Given the description of an element on the screen output the (x, y) to click on. 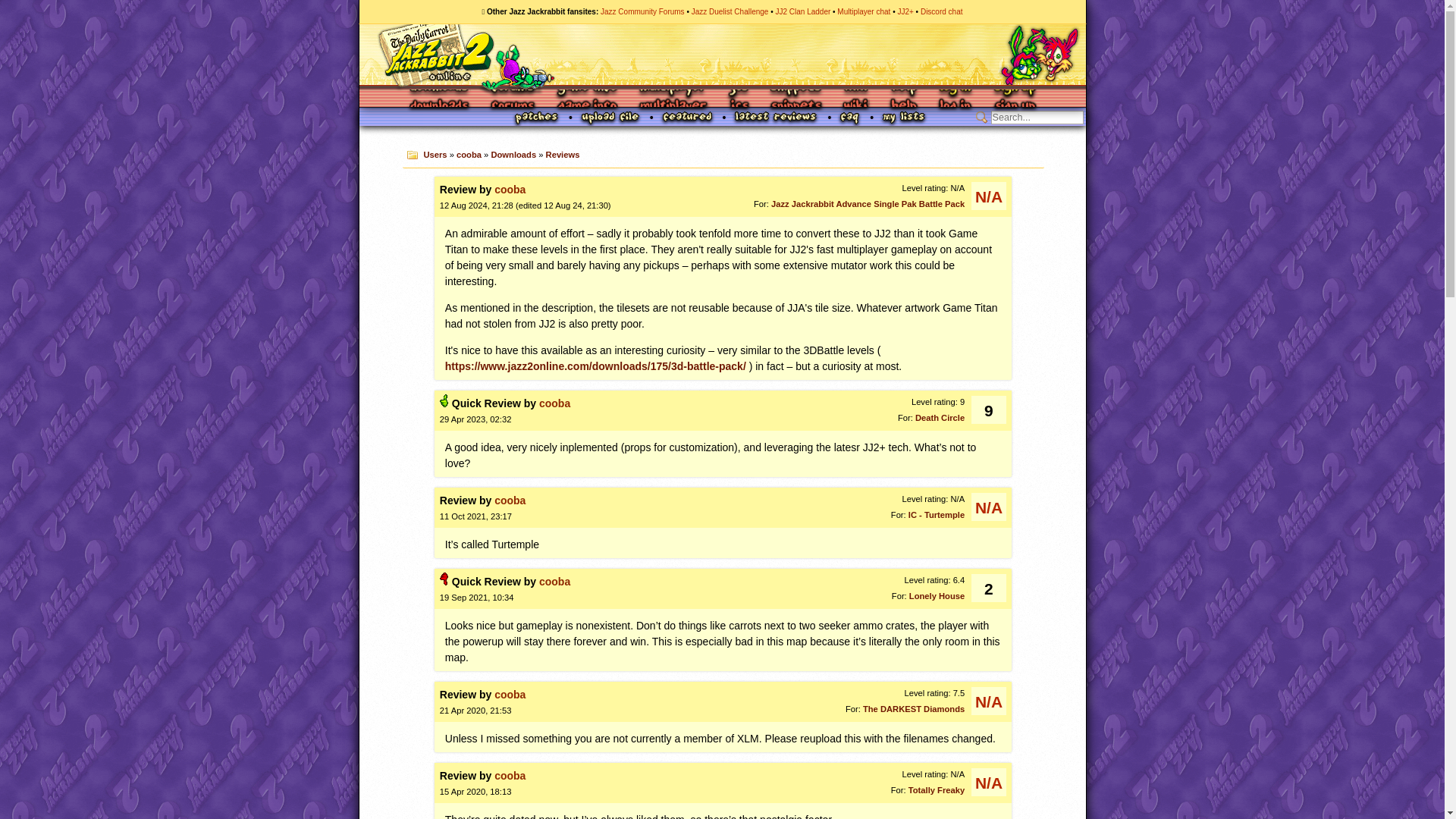
cooba (510, 189)
Jazz Community Forums (641, 11)
Game Info (585, 98)
Users (434, 153)
Downloads (512, 153)
cooba (469, 153)
cooba (510, 500)
cooba (554, 581)
Downloads (439, 98)
cooba (554, 403)
